Given the description of an element on the screen output the (x, y) to click on. 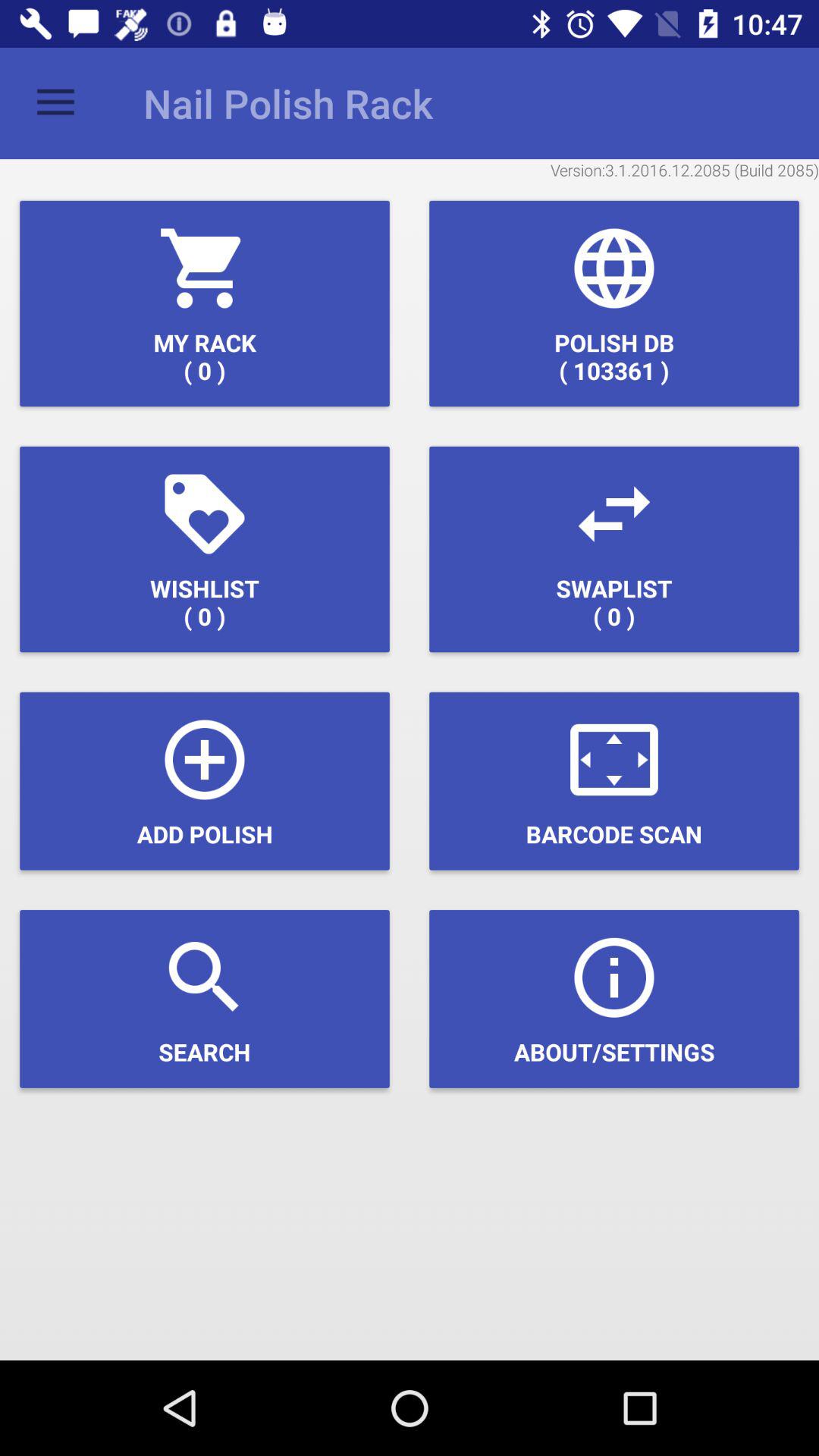
turn on item next to the barcode scan icon (204, 781)
